Given the description of an element on the screen output the (x, y) to click on. 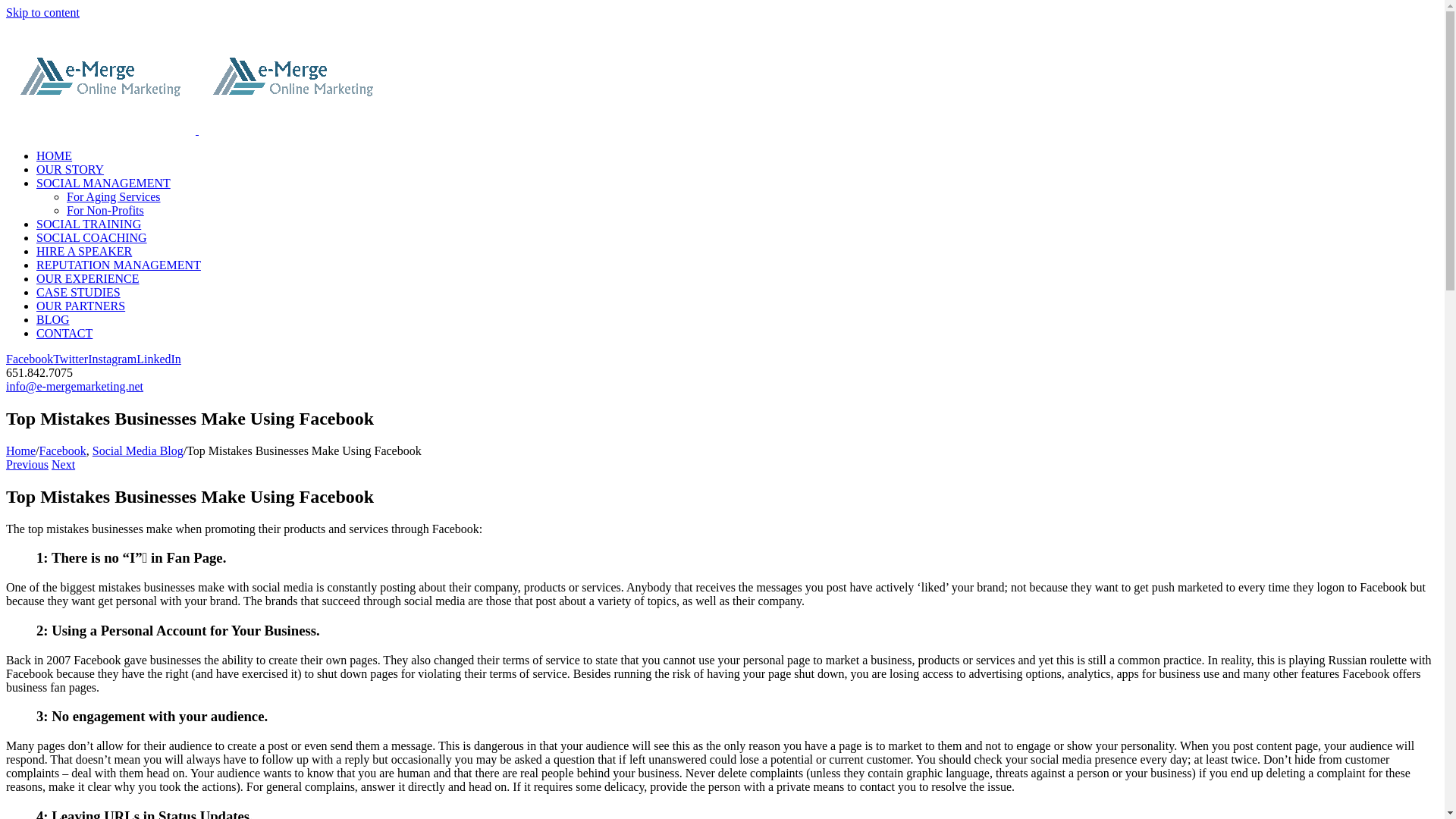
OUR PARTNERS (80, 305)
LinkedIn (158, 358)
OUR STORY (69, 169)
SOCIAL TRAINING (88, 223)
REPUTATION MANAGEMENT (118, 264)
CASE STUDIES (78, 291)
Instagram (111, 358)
Social Media Blog (138, 450)
SOCIAL COACHING (91, 237)
For Non-Profits (105, 210)
HIRE A SPEAKER (84, 250)
OUR EXPERIENCE (87, 278)
For Aging Services (113, 196)
BLOG (52, 318)
Twitter (69, 358)
